Given the description of an element on the screen output the (x, y) to click on. 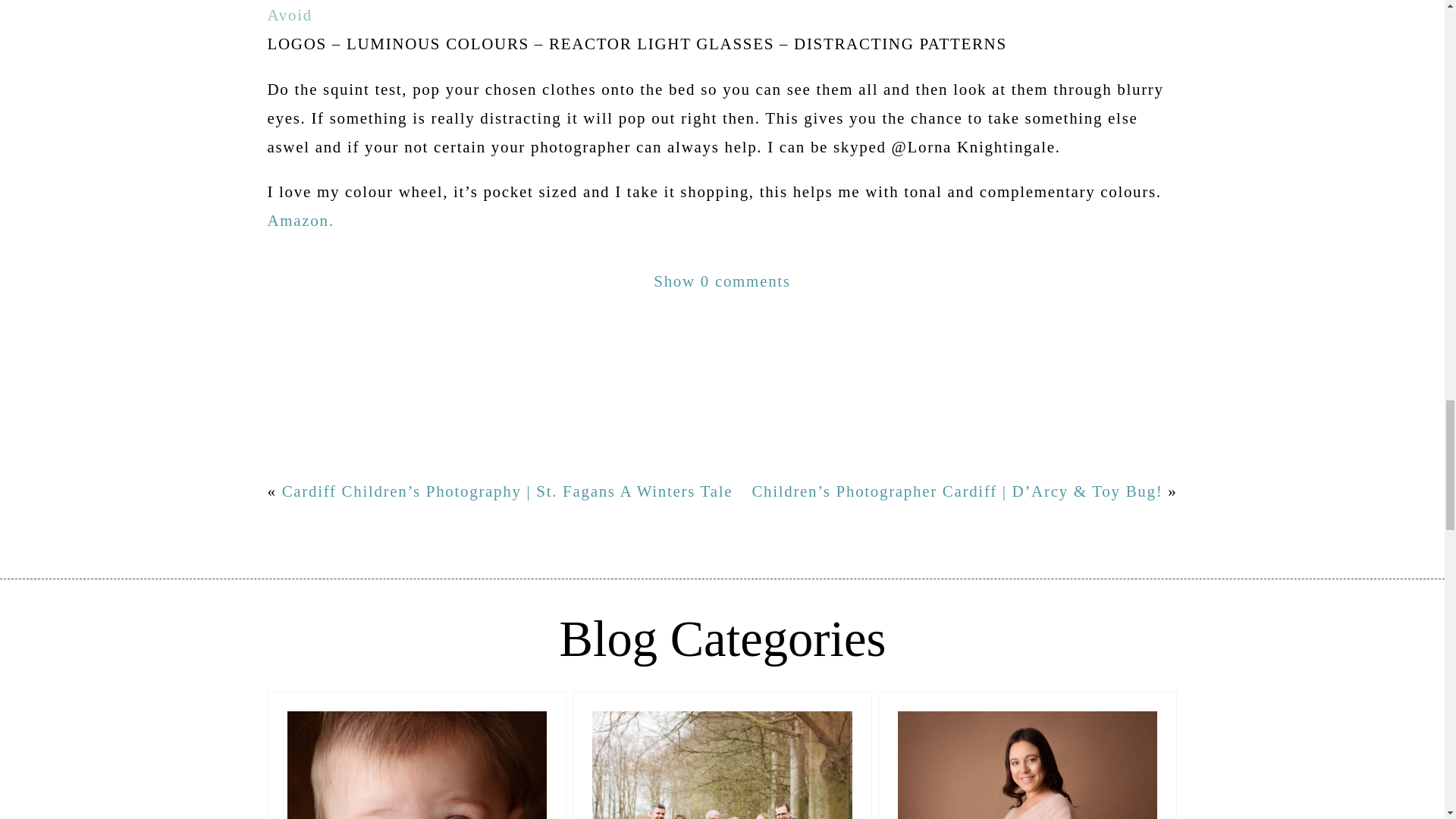
Family (721, 755)
Maternity (1027, 755)
Babies 6-10 Months (416, 755)
